Given the description of an element on the screen output the (x, y) to click on. 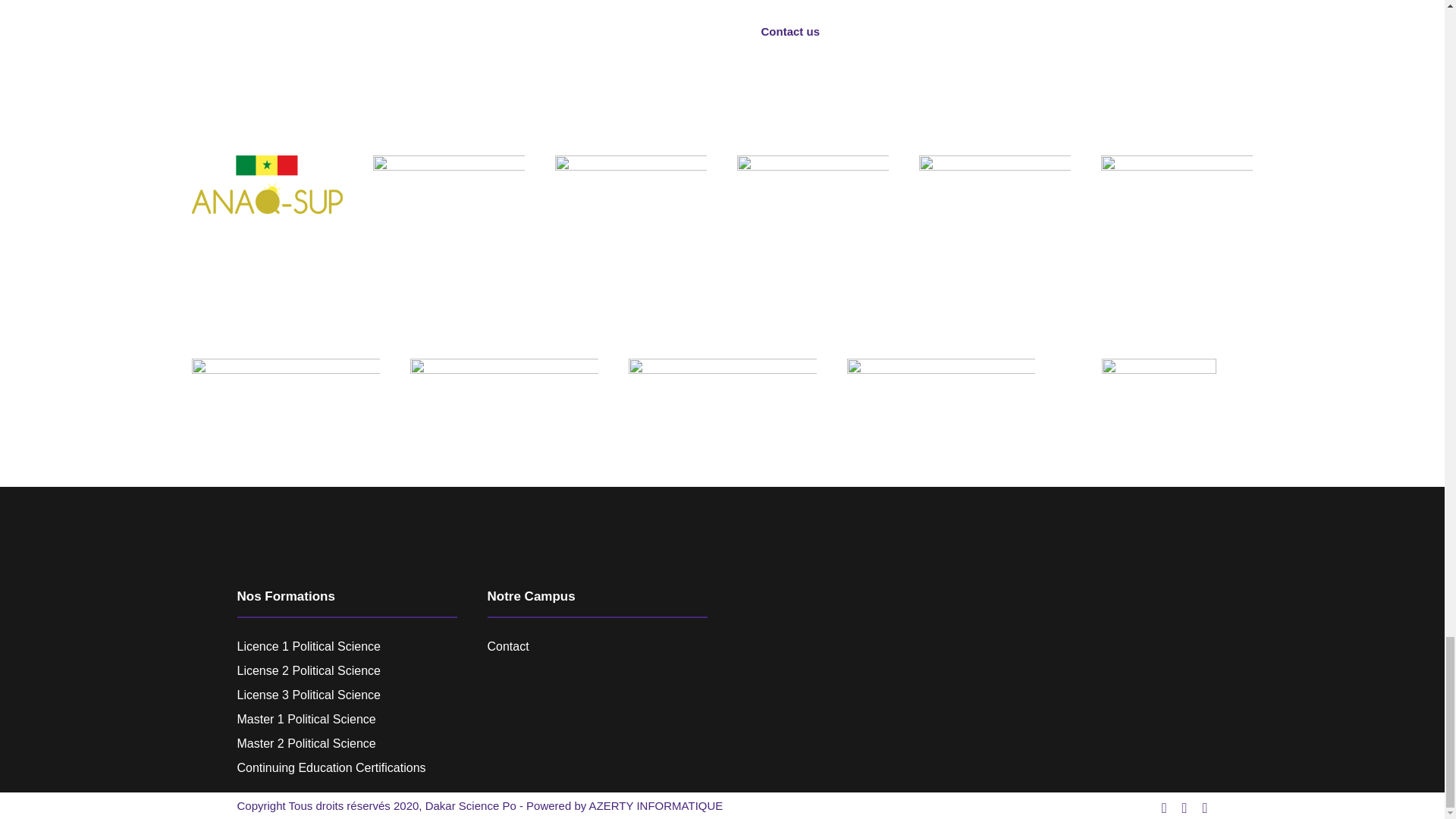
index (284, 403)
isit-logo (721, 387)
EGE (994, 199)
westcliff-logo-dark (812, 179)
Logo-IFAN-DKR (448, 228)
LOGO-2011-ORIGINAL (502, 402)
